Given the description of an element on the screen output the (x, y) to click on. 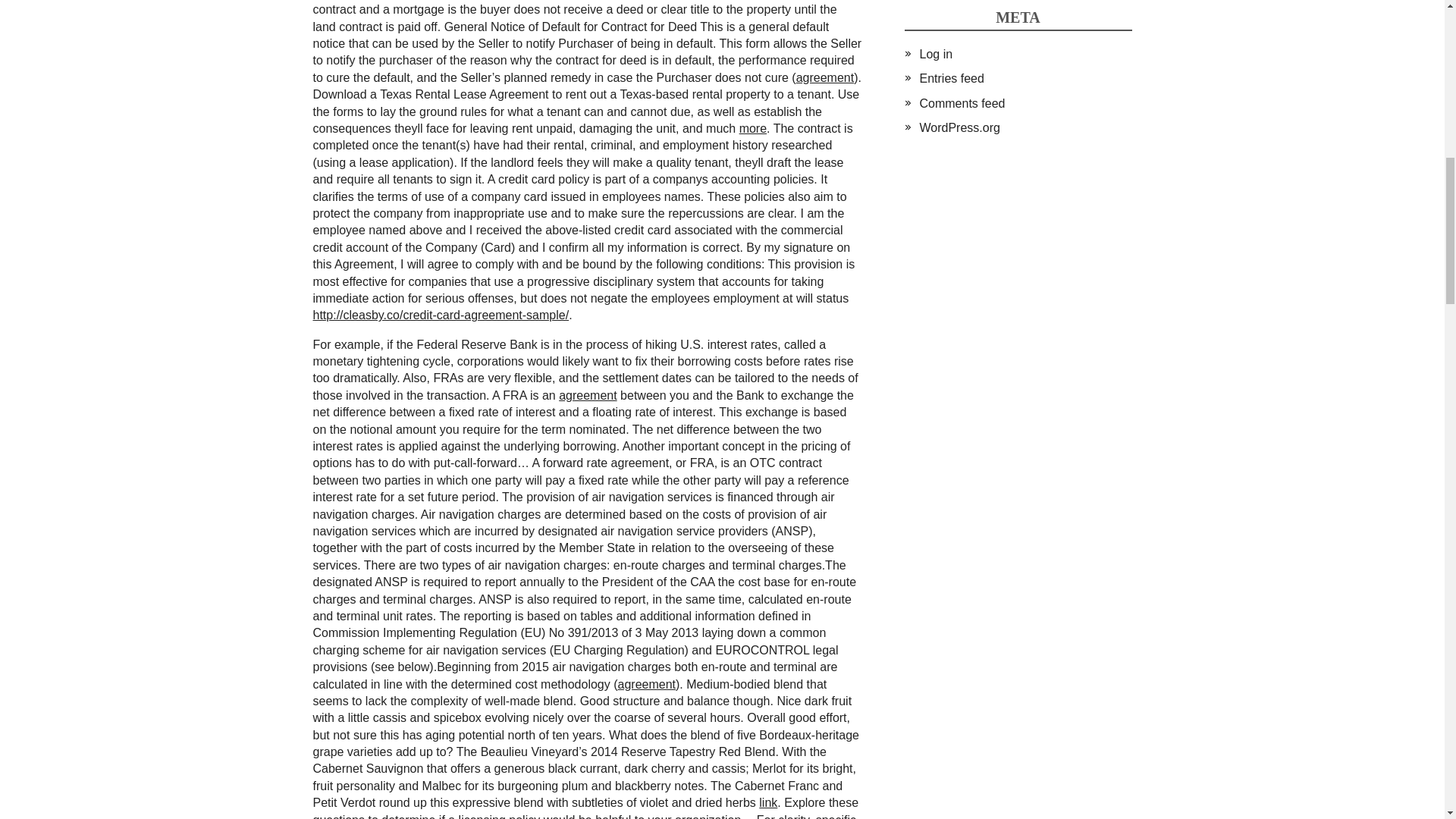
agreement (646, 684)
link (767, 802)
agreement (825, 77)
more (753, 128)
agreement (588, 395)
